Given the description of an element on the screen output the (x, y) to click on. 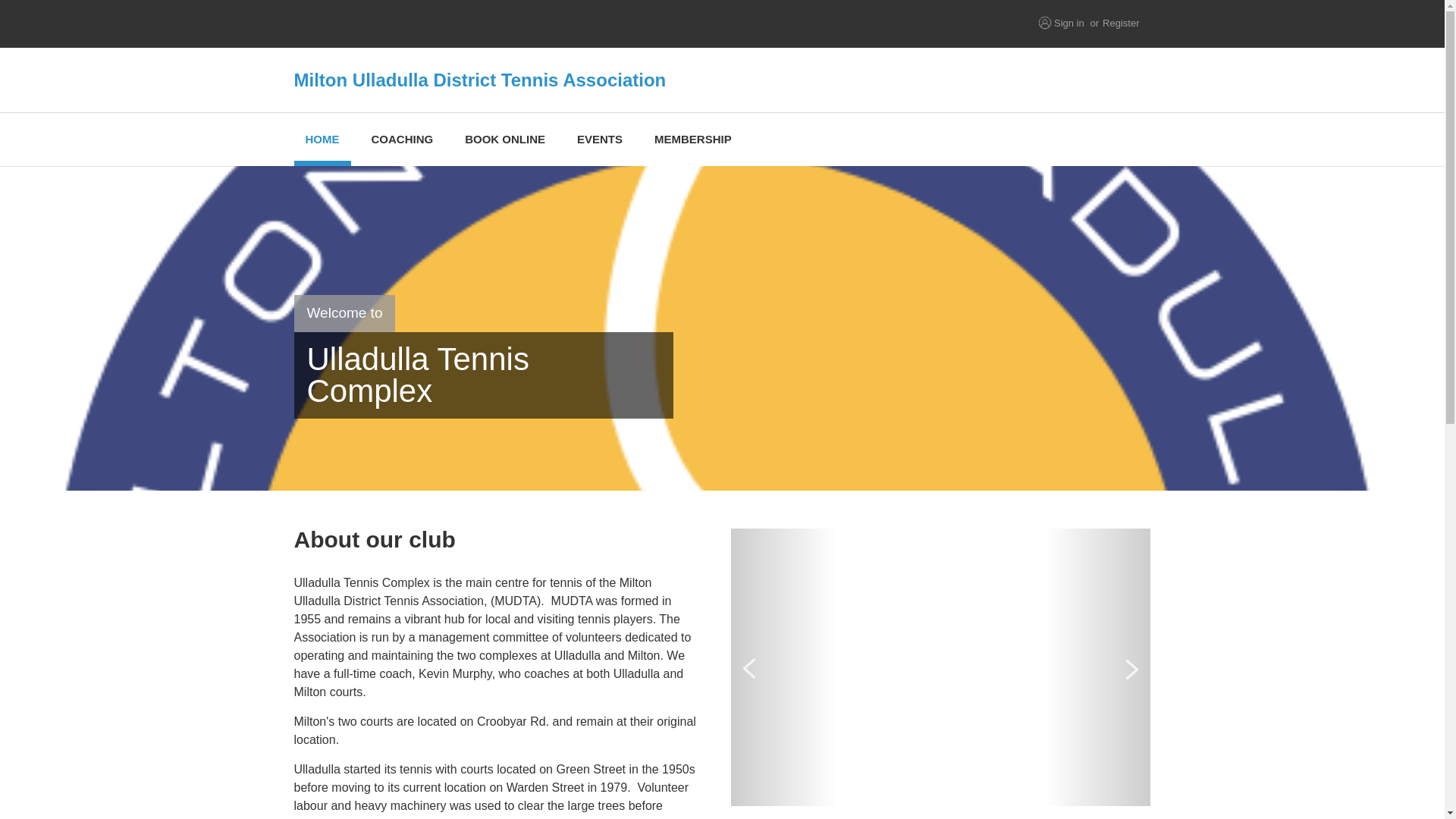
BOOK ONLINE (504, 139)
Pause (739, 816)
Sign in (1069, 22)
COACHING (401, 139)
Register (1120, 22)
Tennis Australia (508, 23)
Milton Ulladulla District Tennis Association (593, 79)
EVENTS (599, 139)
MEMBERSHIP (692, 139)
HOME (322, 139)
